Given the description of an element on the screen output the (x, y) to click on. 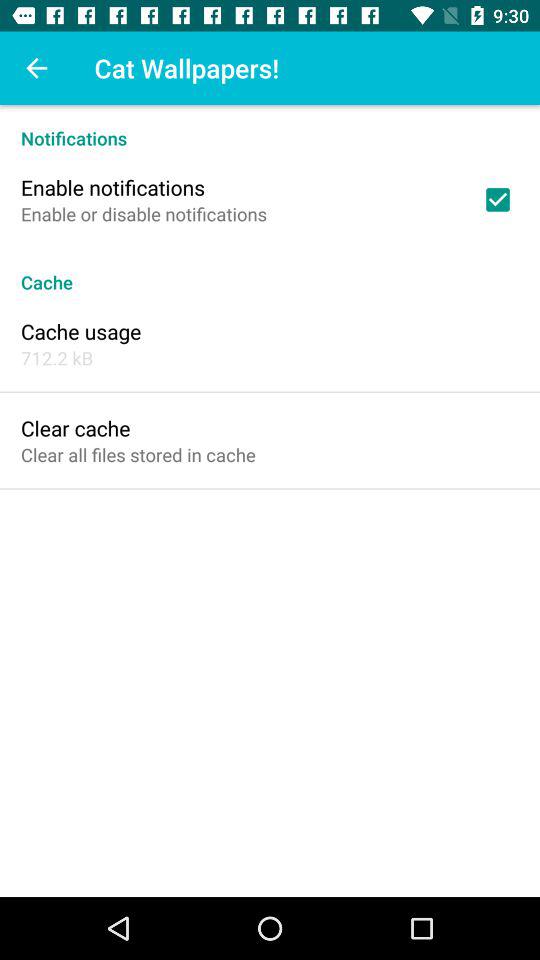
select the icon above the cache icon (497, 199)
